Given the description of an element on the screen output the (x, y) to click on. 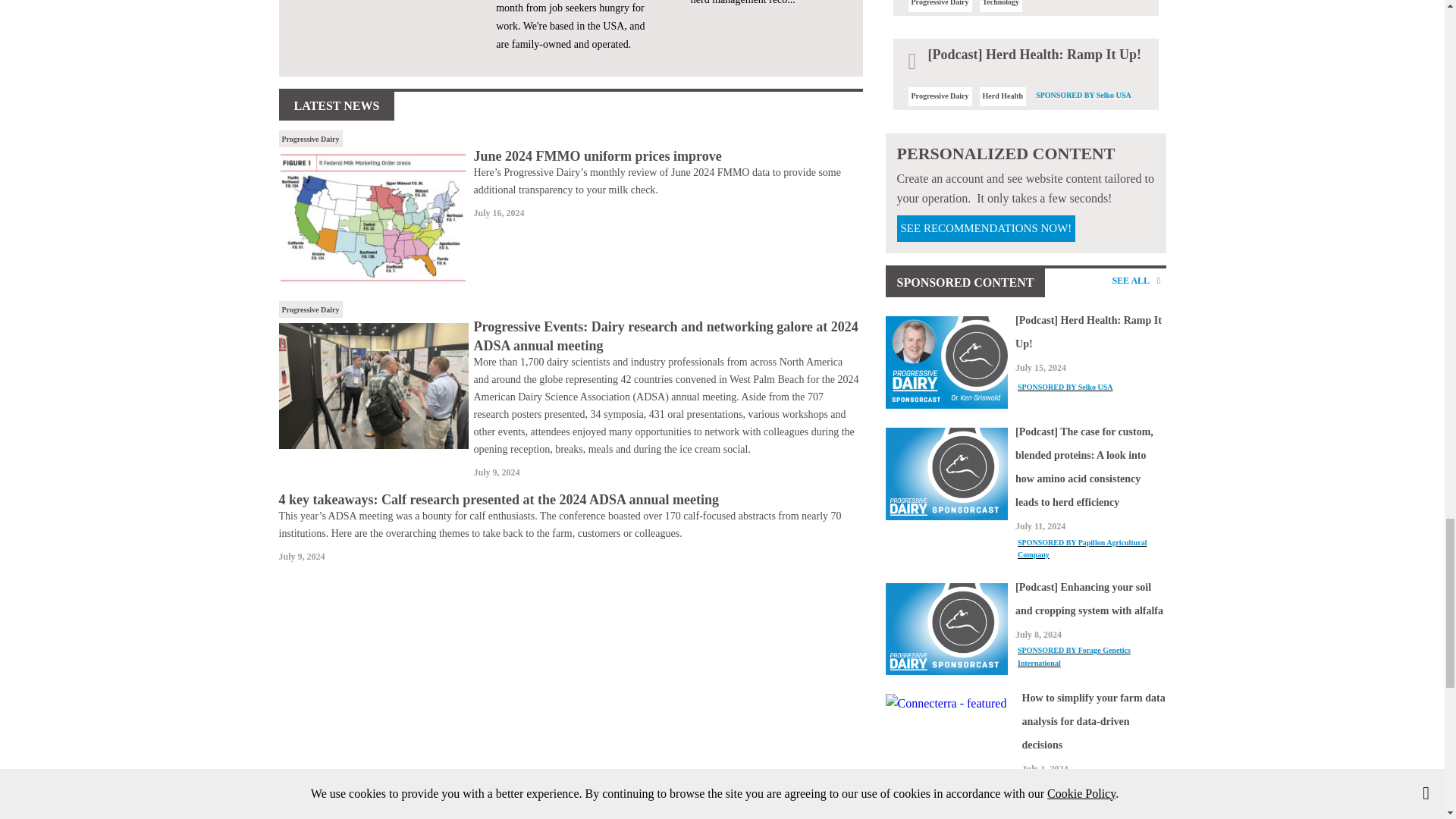
071824-PD-sponsorcast-preview-image.jpg (947, 362)
connecterra-cover.png (949, 703)
headphone-pd-gray.png (947, 629)
56065-natzke-fmmo-map.jpg (373, 217)
headphone-pd-gray.png (947, 473)
59940-devaney-1.jpg (373, 385)
headphone-pd-gray.png (947, 817)
